Given the description of an element on the screen output the (x, y) to click on. 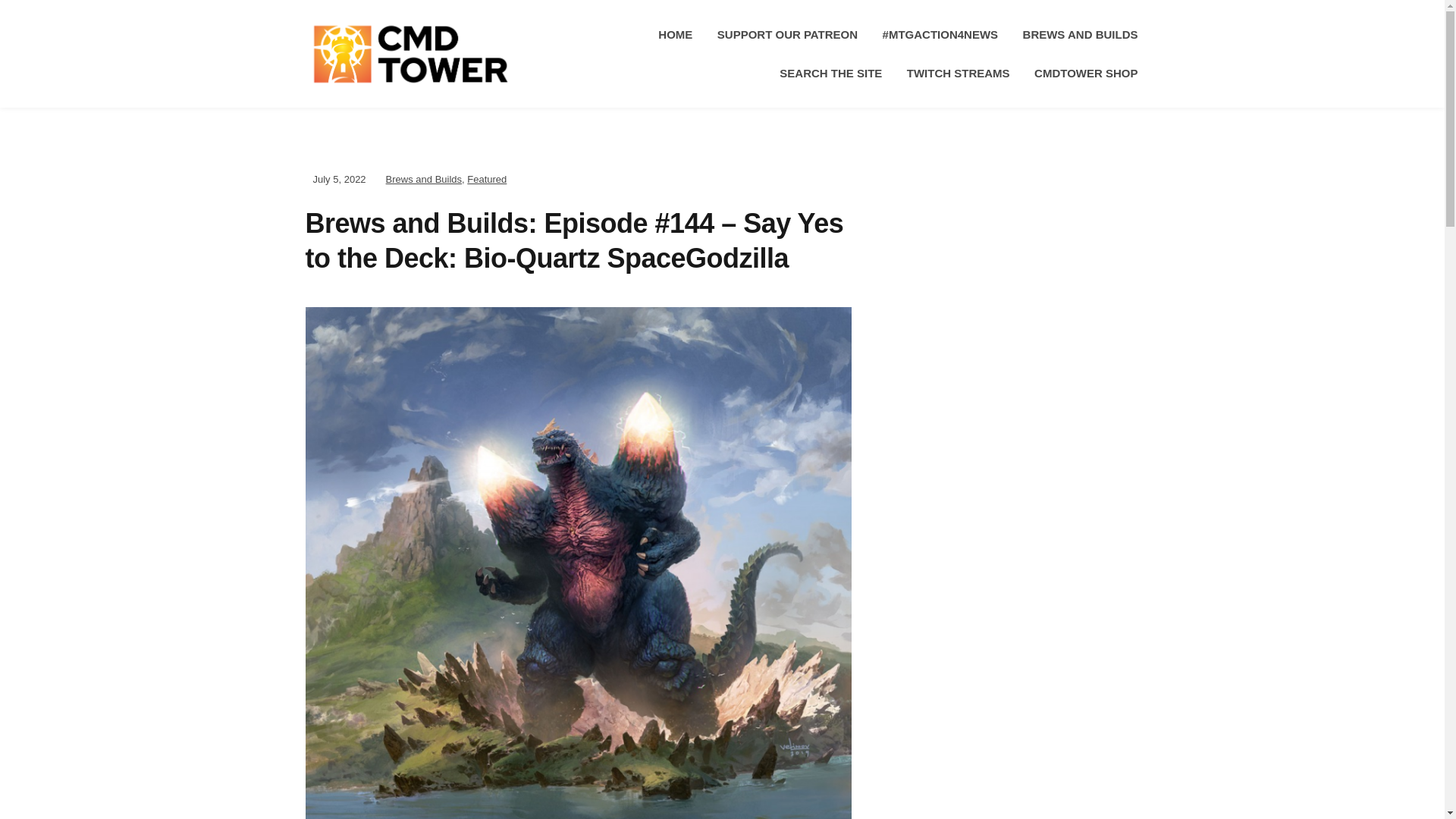
Brews and Builds (423, 179)
HOME (675, 34)
BREWS AND BUILDS (1081, 34)
SEARCH THE SITE (830, 73)
Featured (486, 179)
SUPPORT OUR PATREON (787, 34)
CMDTOWER SHOP (1085, 73)
TWITCH STREAMS (958, 73)
